Given the description of an element on the screen output the (x, y) to click on. 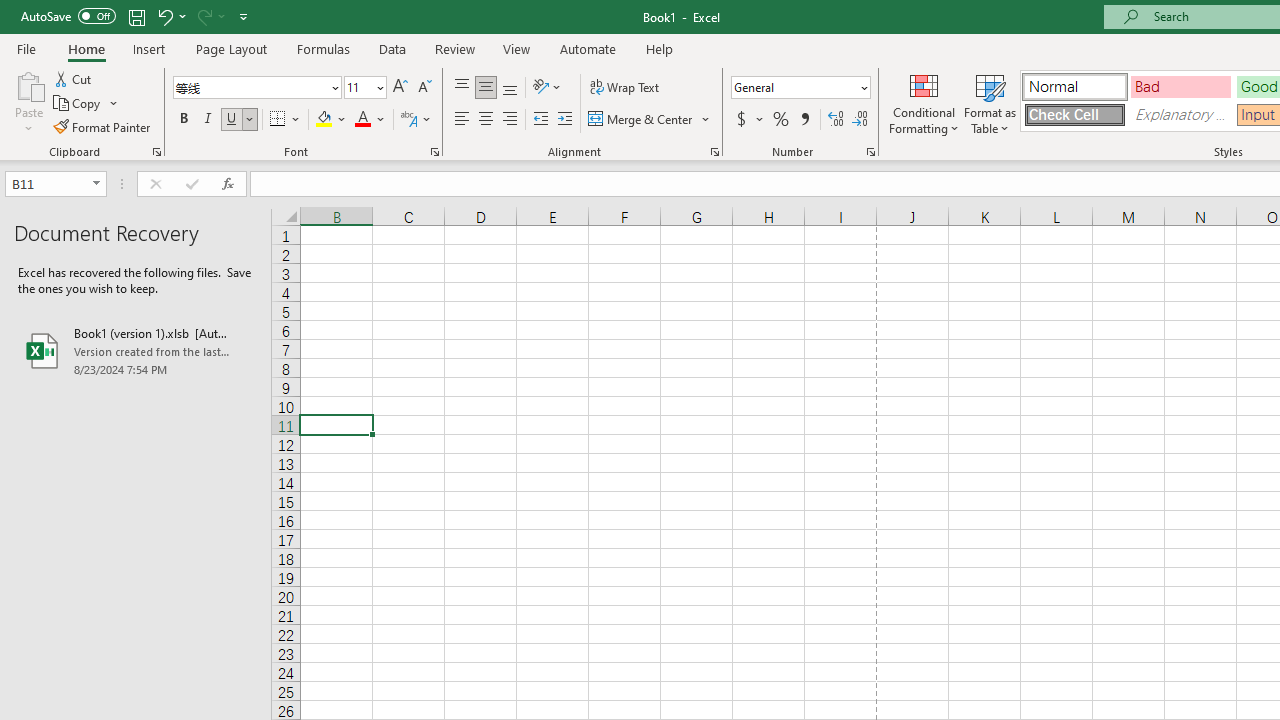
Middle Align (485, 87)
Format as Table (990, 102)
Italic (207, 119)
